Given the description of an element on the screen output the (x, y) to click on. 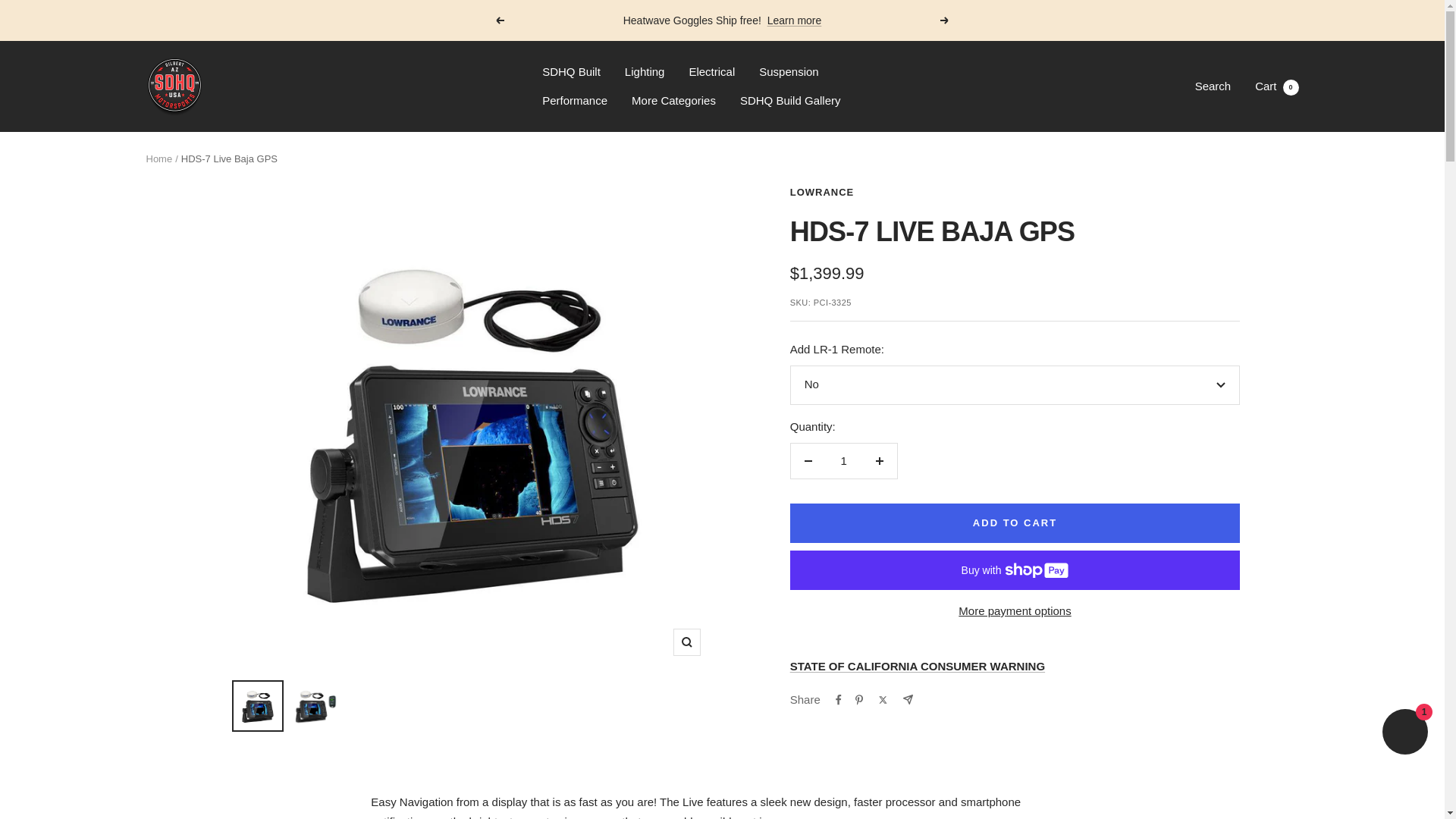
Next (944, 20)
Prop 65 Warning (917, 666)
Electrical (711, 71)
LOWRANCE (822, 192)
More Categories (673, 100)
Home (158, 158)
SDHQ (173, 86)
Performance (1276, 85)
No (574, 100)
Search (1015, 427)
SDHQ Built (1213, 85)
Previous (570, 71)
Learn more (499, 20)
SDHQ Build Gallery (794, 20)
